Given the description of an element on the screen output the (x, y) to click on. 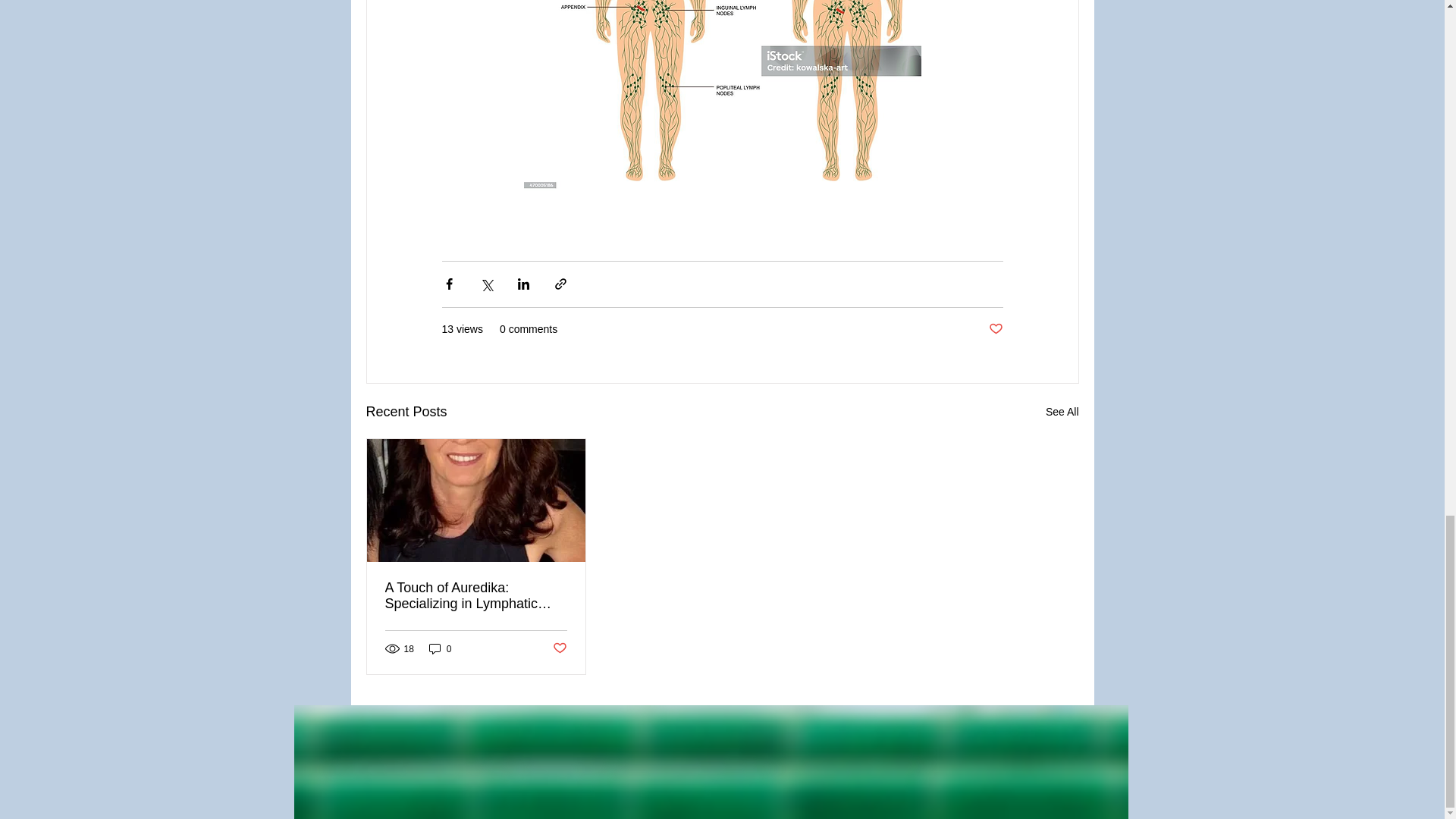
A Touch of Auredika: Specializing in Lymphatic Massages (476, 595)
Post not marked as liked (995, 329)
Post not marked as liked (558, 648)
0 (440, 648)
See All (1061, 412)
